Given the description of an element on the screen output the (x, y) to click on. 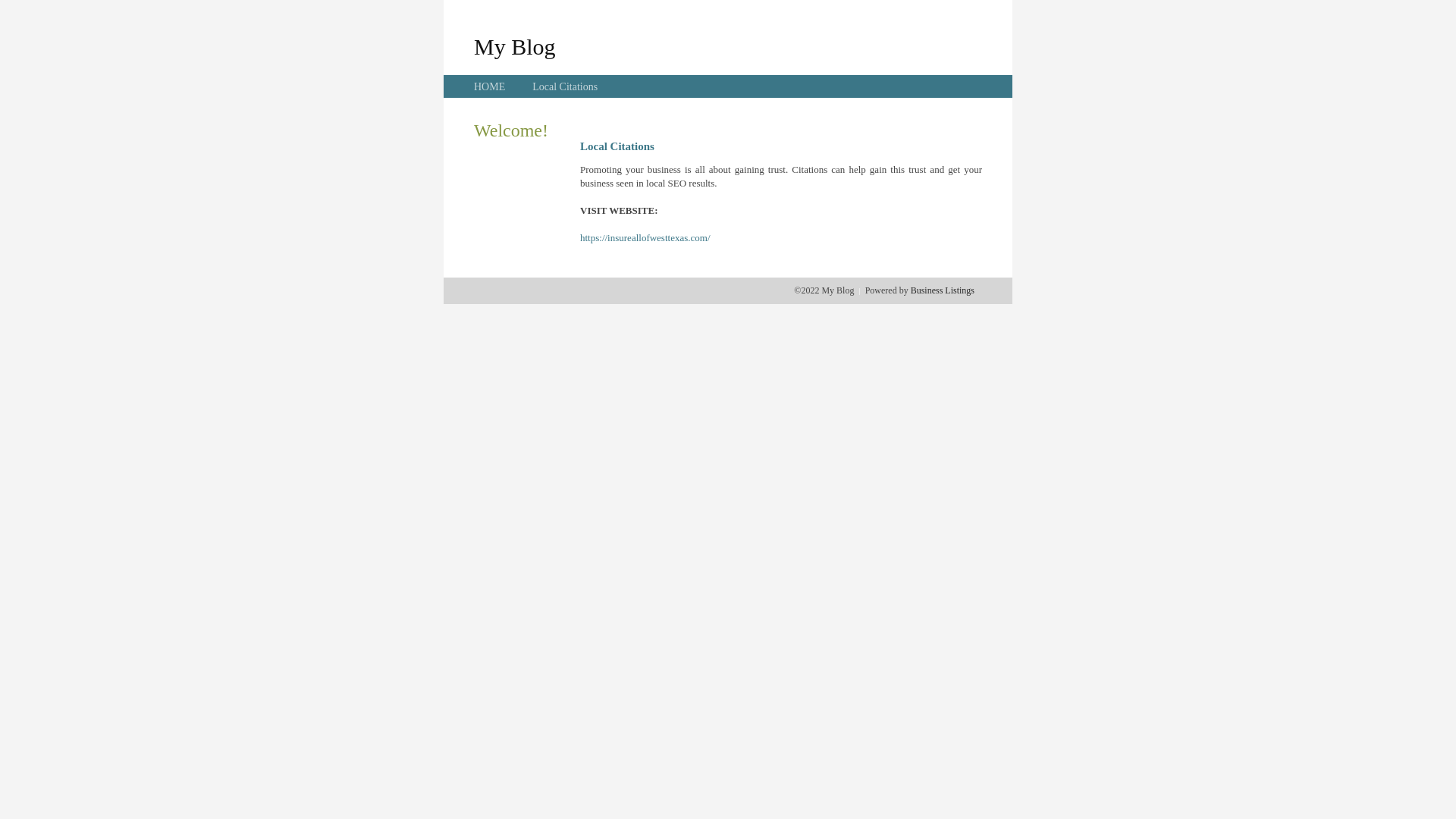
My Blog Element type: text (514, 46)
Local Citations Element type: text (564, 86)
Business Listings Element type: text (942, 290)
https://insureallofwesttexas.com/ Element type: text (645, 237)
HOME Element type: text (489, 86)
